Given the description of an element on the screen output the (x, y) to click on. 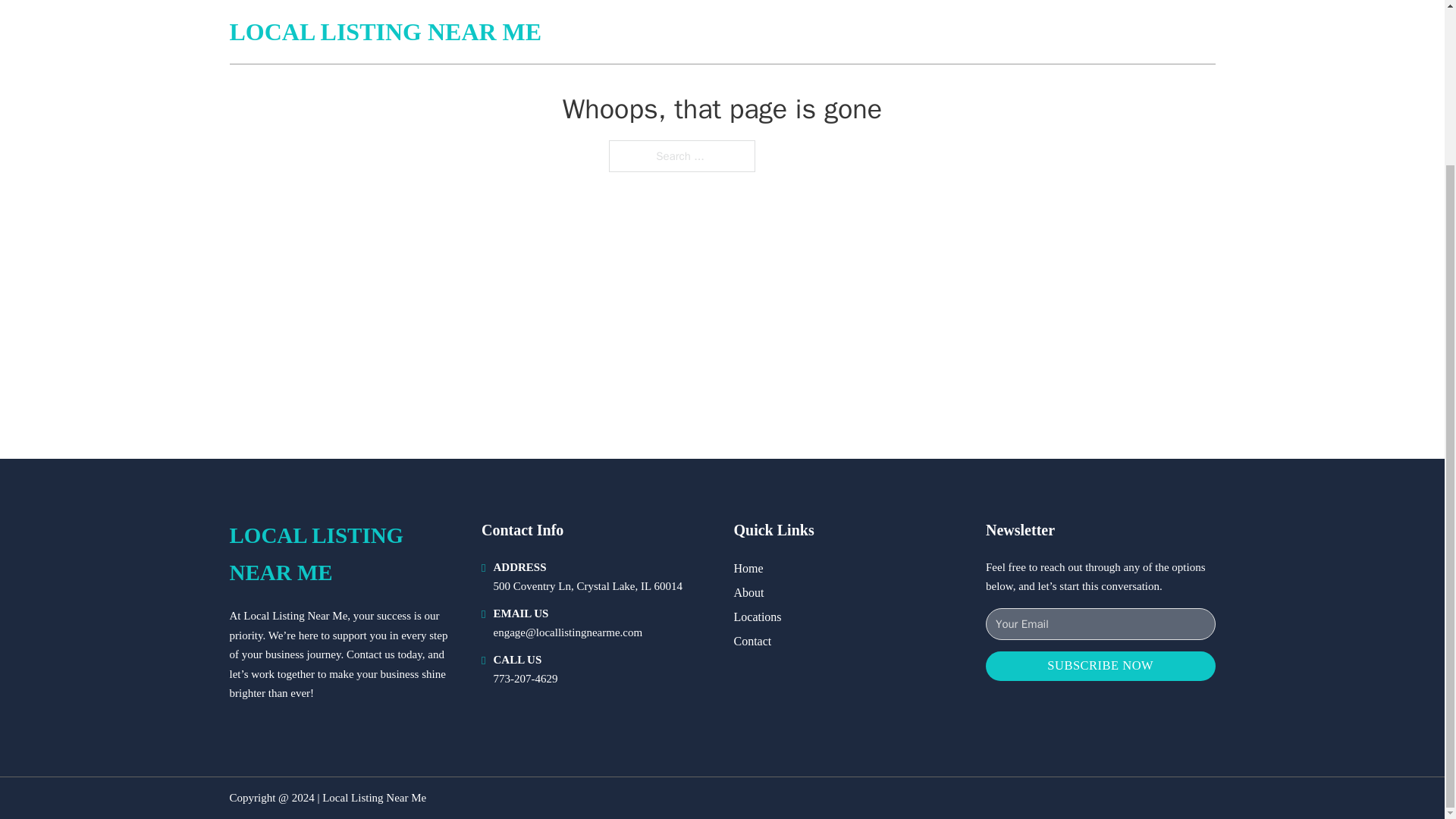
Locations (757, 616)
SUBSCRIBE NOW (1100, 665)
About (748, 592)
LOCAL LISTING NEAR ME (343, 554)
Home (747, 567)
Contact (752, 640)
773-207-4629 (525, 678)
